Given the description of an element on the screen output the (x, y) to click on. 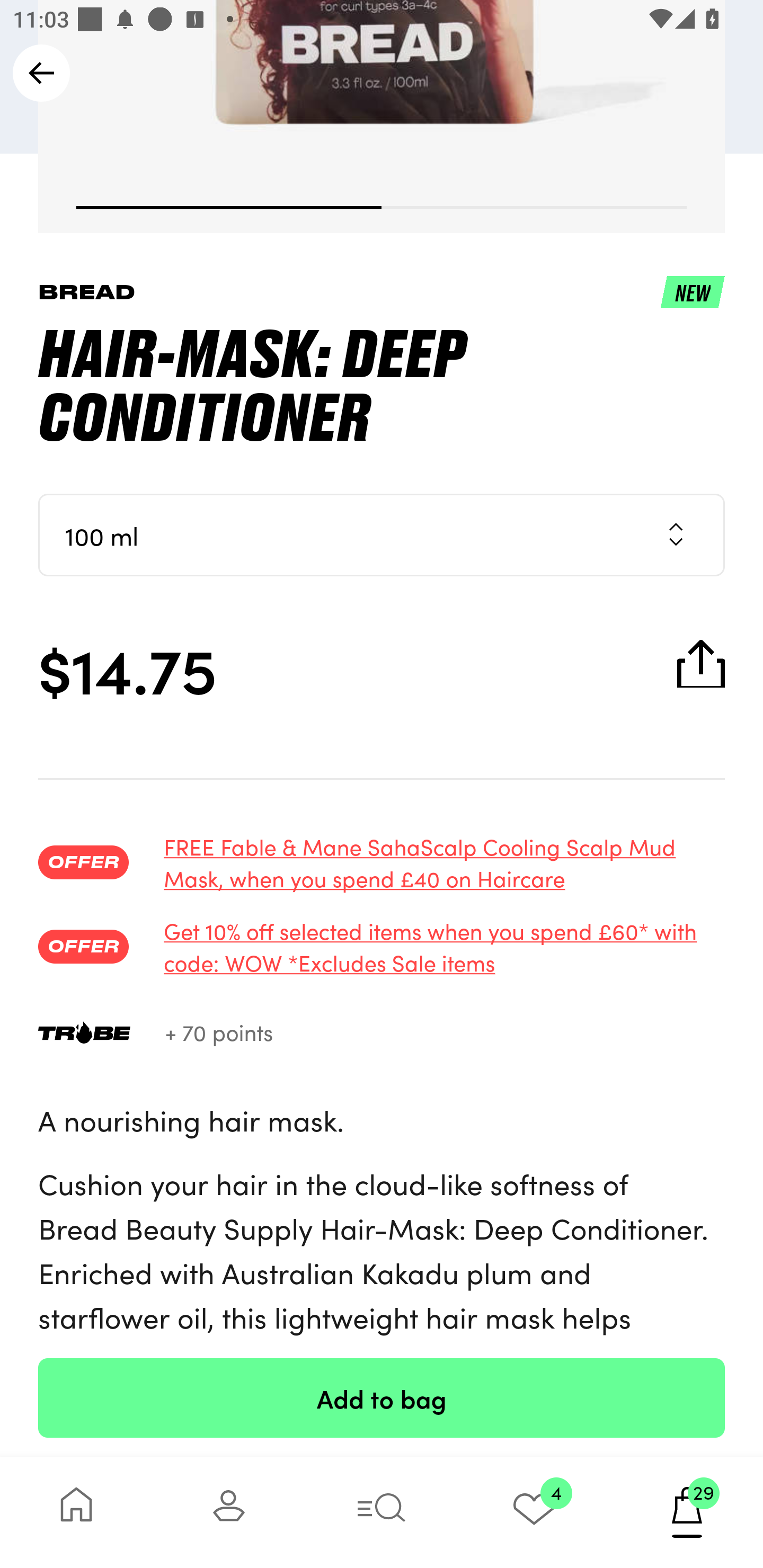
100 ml  (381, 535)
Add to bag (381, 1397)
4 (533, 1512)
29 (686, 1512)
